Given the description of an element on the screen output the (x, y) to click on. 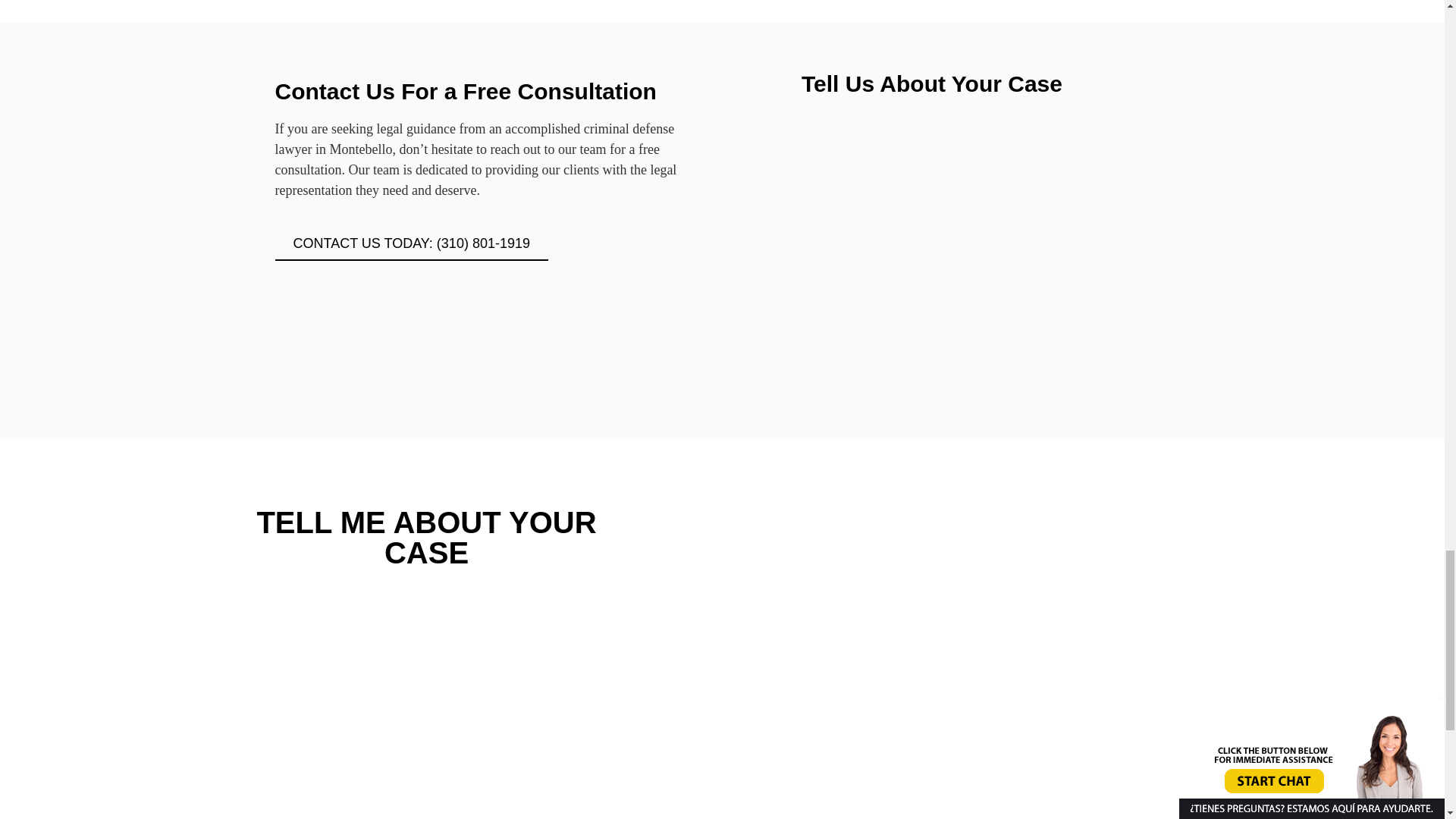
Consultation Form  (425, 693)
